Given the description of an element on the screen output the (x, y) to click on. 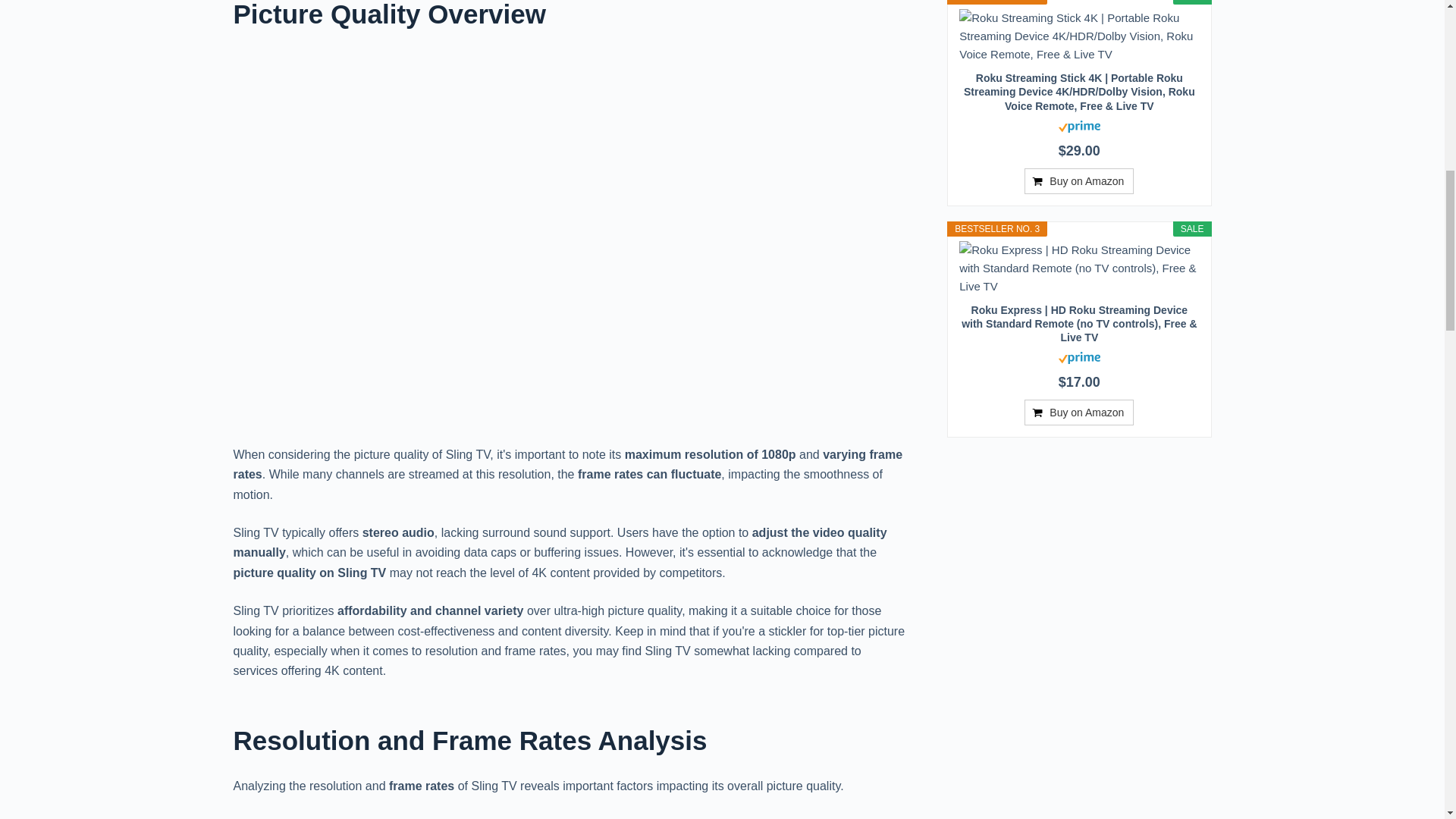
Buy on Amazon (1079, 181)
Amazon Prime (1079, 356)
Amazon Prime (1079, 124)
Buy on Amazon (1079, 412)
